Given the description of an element on the screen output the (x, y) to click on. 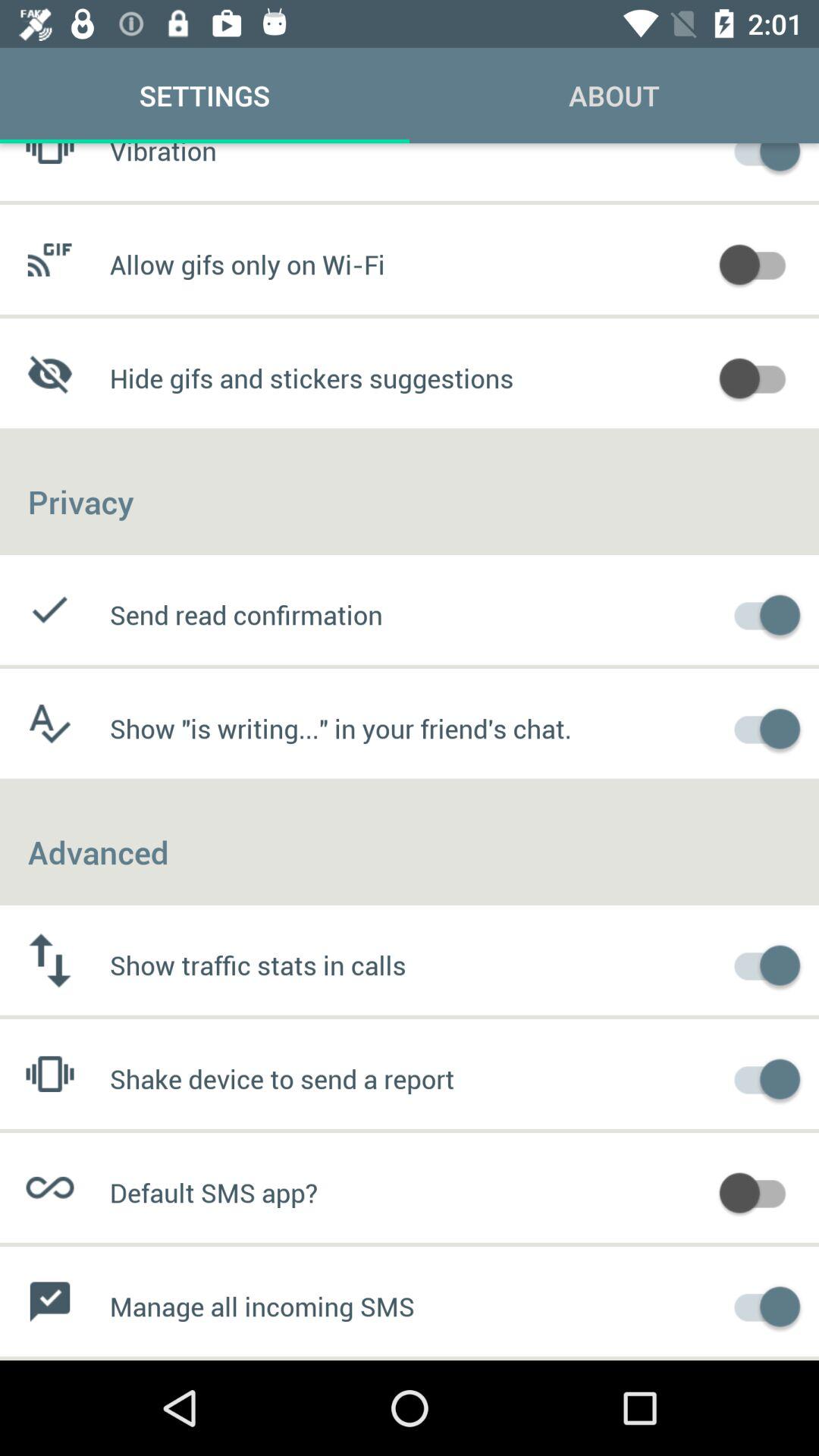
toggle send read confimation (759, 613)
